Given the description of an element on the screen output the (x, y) to click on. 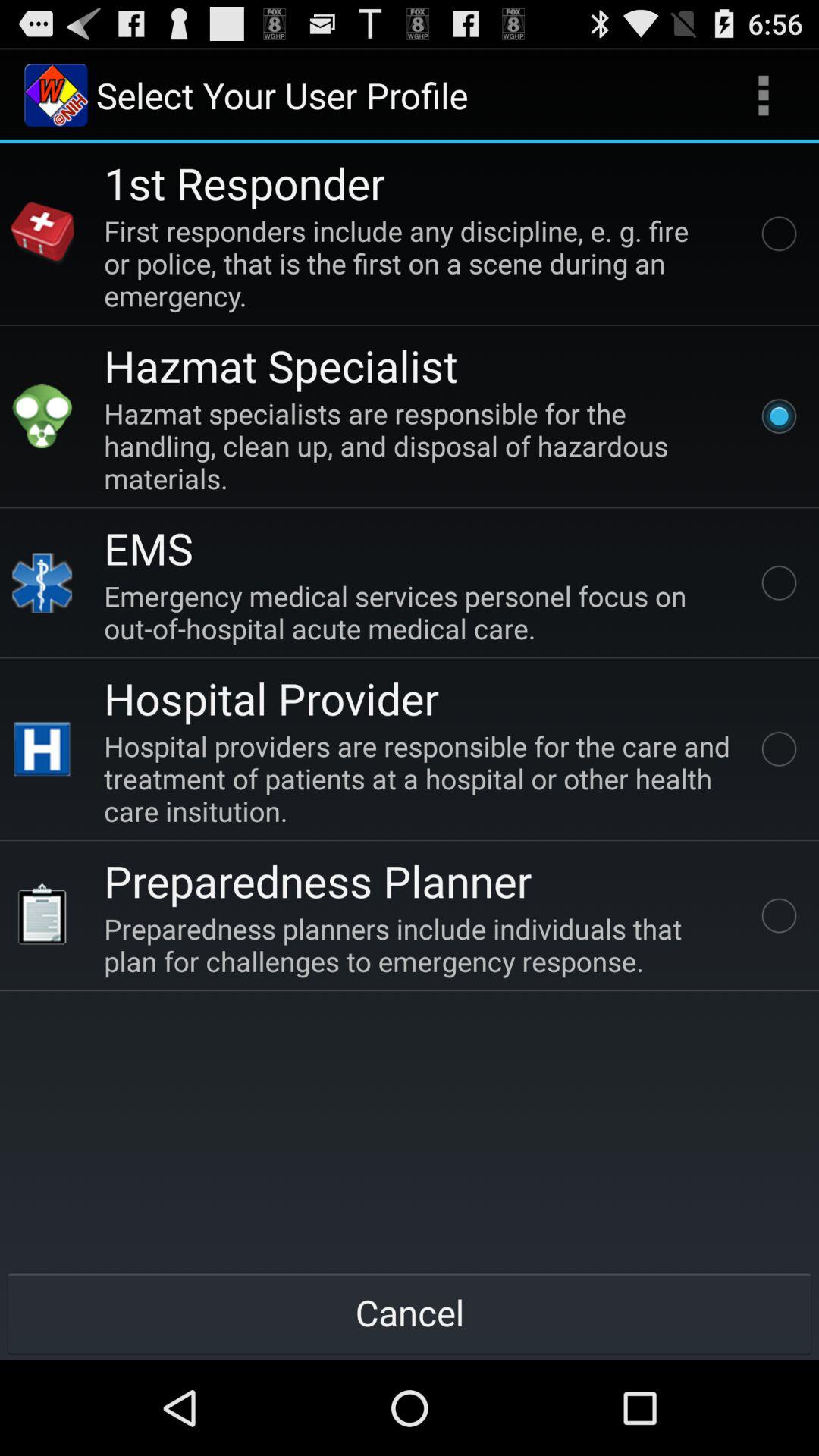
flip to hospital provider app (271, 697)
